Given the description of an element on the screen output the (x, y) to click on. 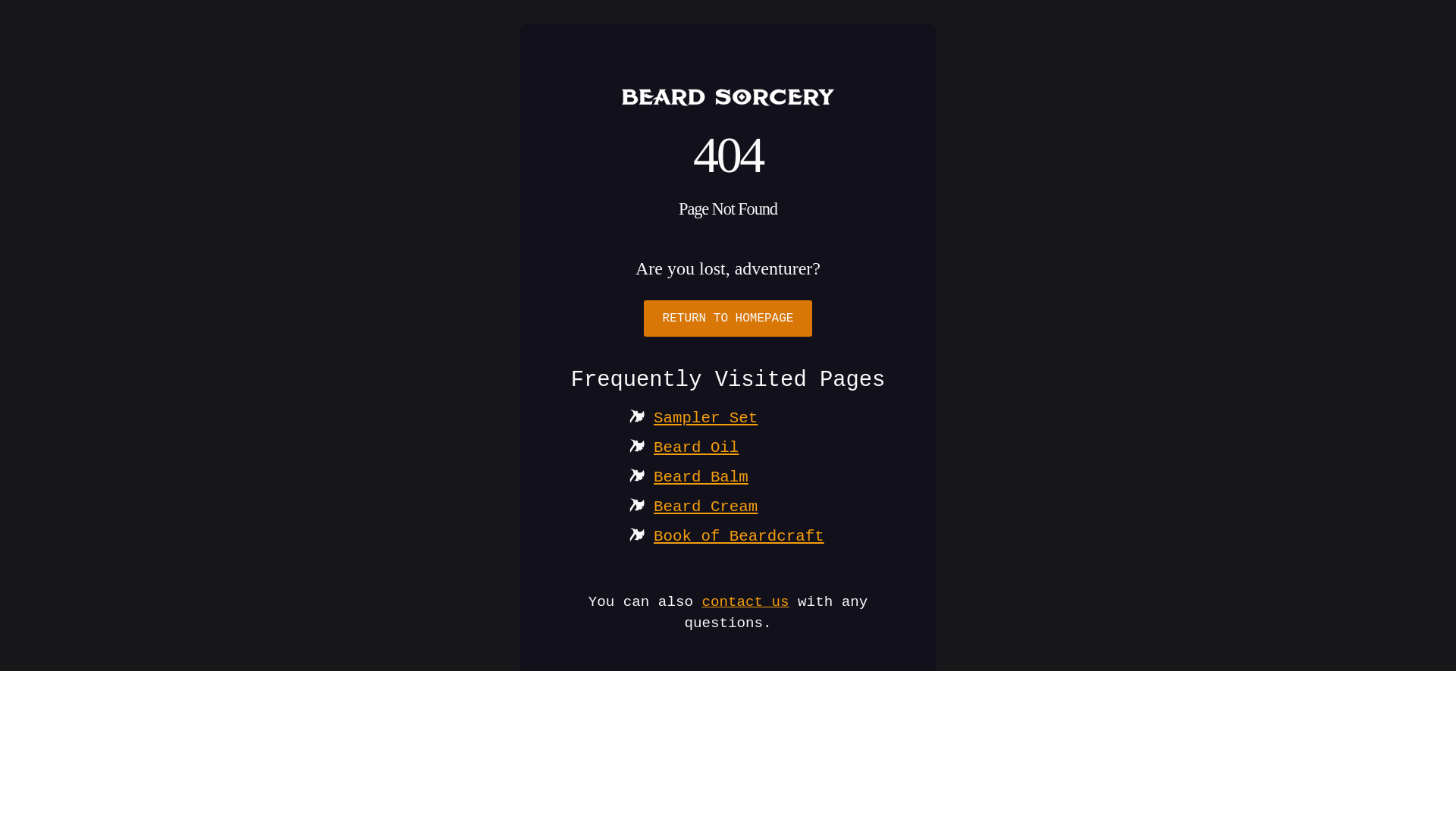
Beard Balm Element type: text (700, 477)
RETURN TO HOMEPAGE Element type: text (727, 318)
Book of Beardcraft Element type: text (738, 536)
contact us Element type: text (744, 601)
Beard Sorcery, LLC Element type: text (727, 96)
Beard Oil Element type: text (695, 447)
Sampler Set Element type: text (705, 417)
Beard Cream Element type: text (705, 506)
